Given the description of an element on the screen output the (x, y) to click on. 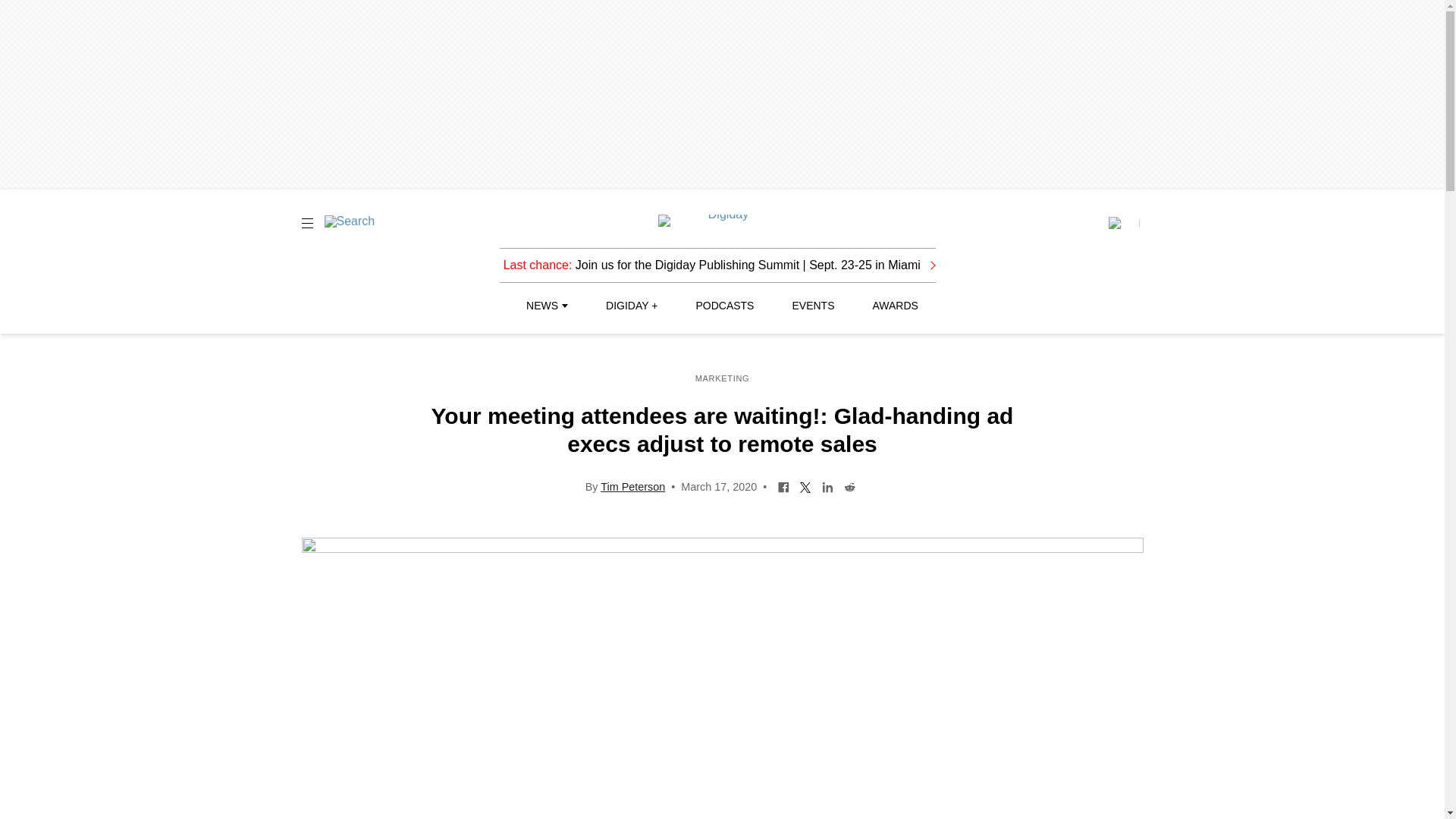
Share on Reddit (849, 485)
NEWS (546, 305)
Share on LinkedIn (827, 485)
Share on Twitter (805, 485)
AWARDS (894, 305)
PODCASTS (725, 305)
EVENTS (813, 305)
Subscribe (1123, 223)
Share on Facebook (783, 485)
